Given the description of an element on the screen output the (x, y) to click on. 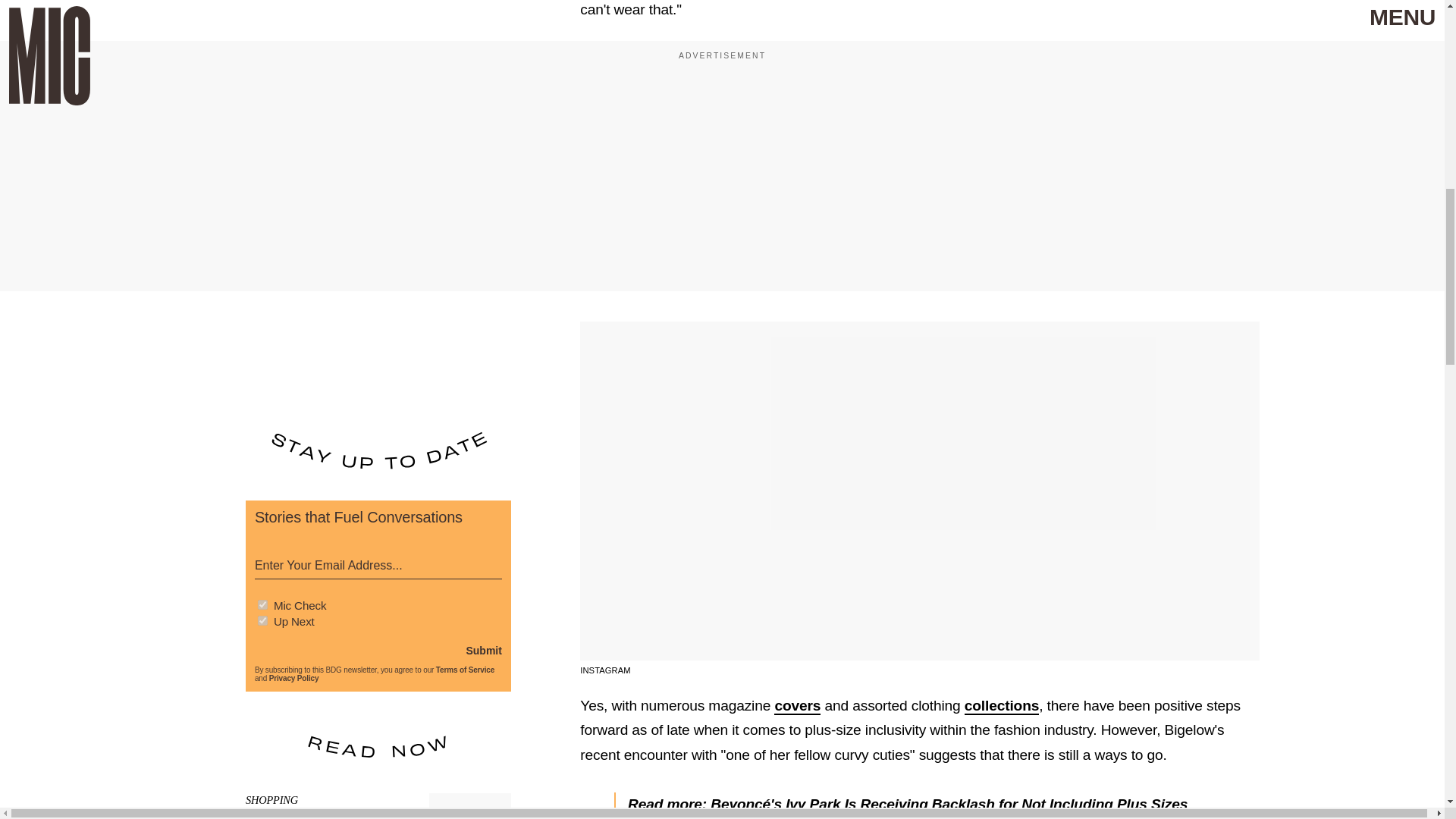
collections (1001, 705)
Terms of Service (465, 669)
covers (797, 705)
Privacy Policy (293, 678)
Submit (482, 650)
